Given the description of an element on the screen output the (x, y) to click on. 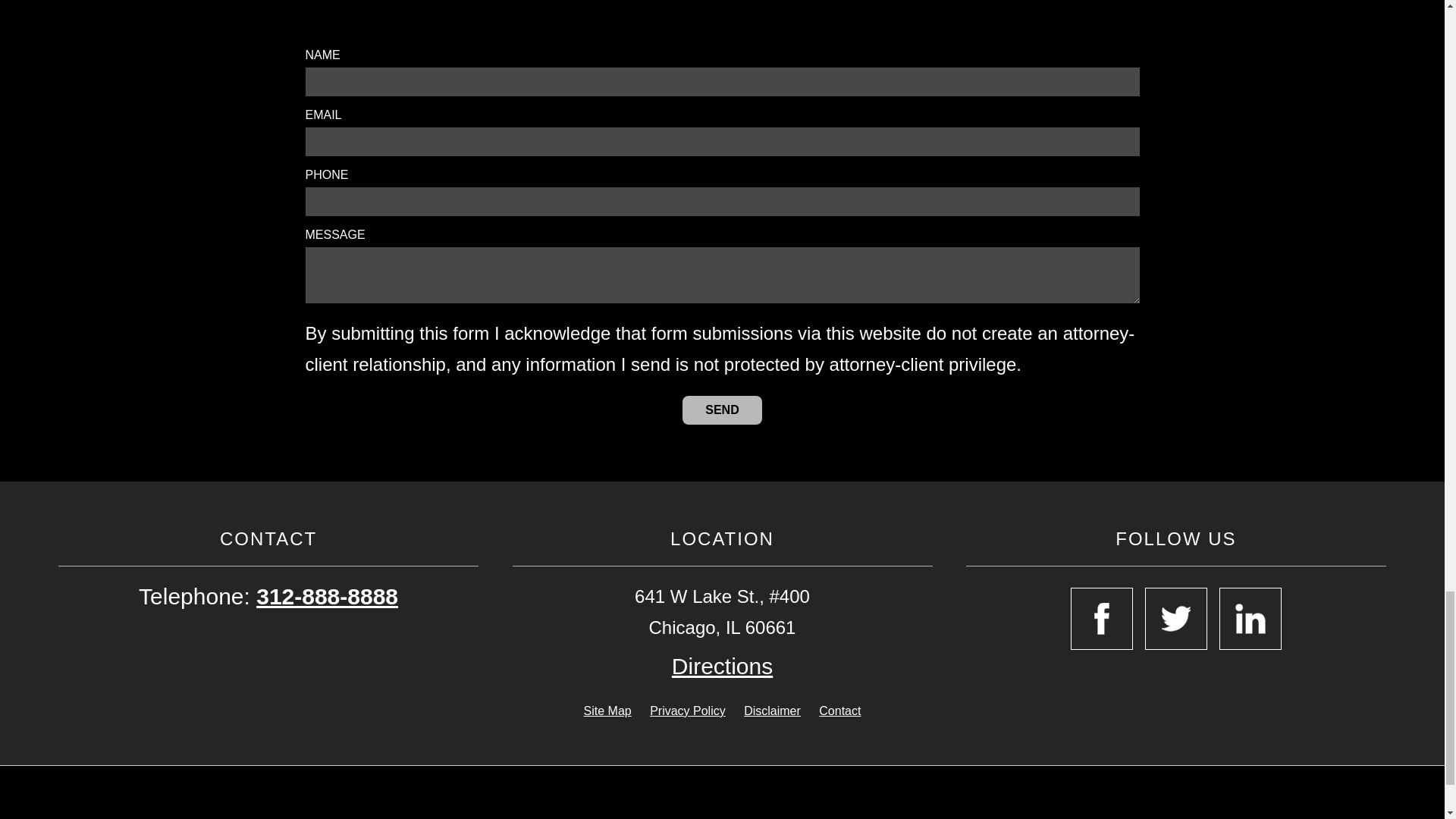
Open Twitter in a New Window (1175, 619)
Open Facebook in a New Window (1101, 619)
Send (721, 410)
312-888-8888 (326, 596)
Send (721, 410)
Open Google Map in a New Window (722, 665)
Open Linkedin in a New Window (1250, 619)
